Given the description of an element on the screen output the (x, y) to click on. 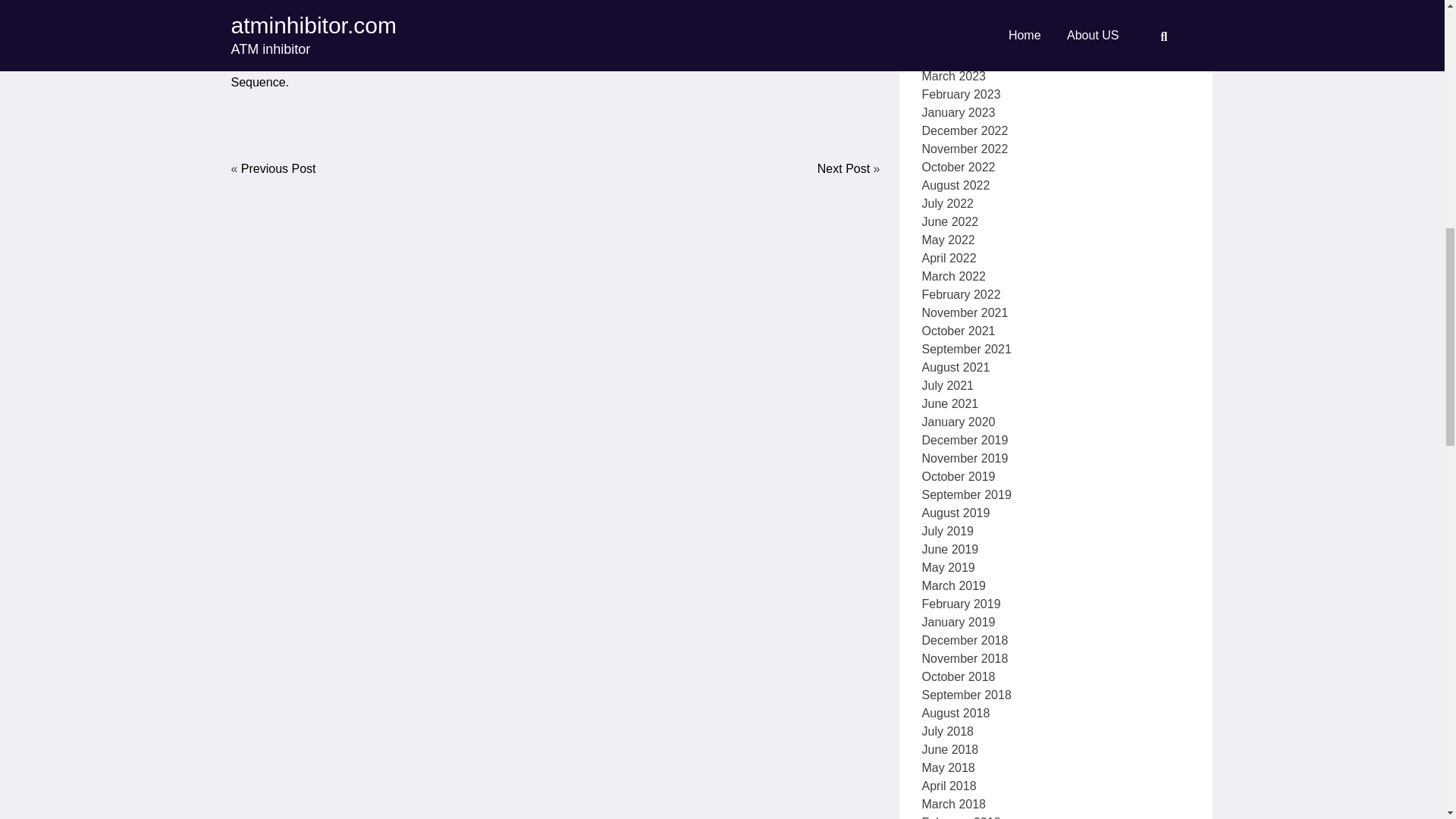
March 2023 (954, 60)
April 2023 (948, 42)
December 2022 (965, 115)
Next Post (842, 168)
Previous Post (278, 168)
June 2023 (949, 6)
January 2023 (958, 97)
February 2023 (961, 78)
May 2023 (948, 24)
